Given the description of an element on the screen output the (x, y) to click on. 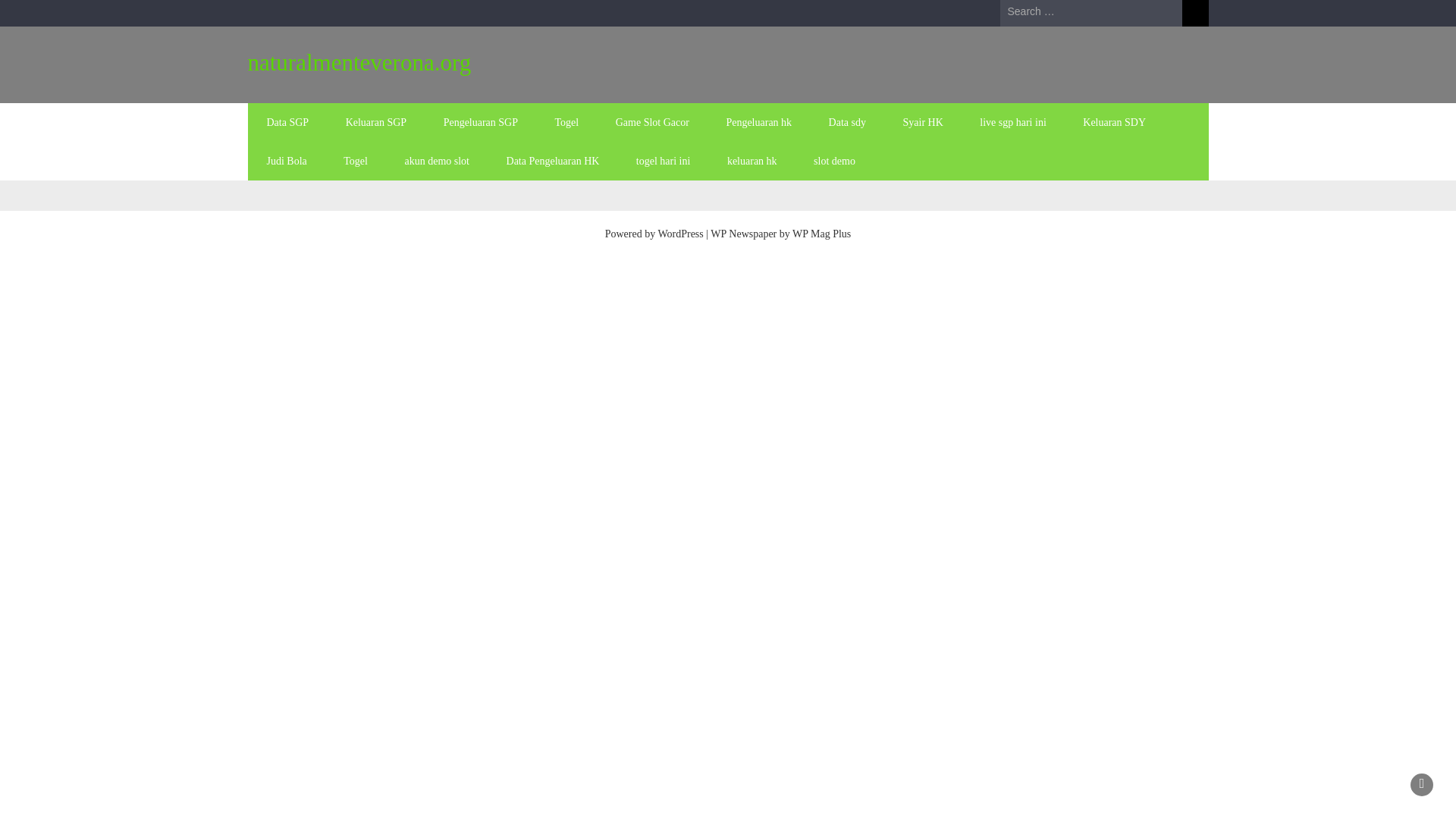
naturalmenteverona.org (358, 62)
Togel (355, 160)
Keluaran SDY (1113, 122)
Syair HK (922, 122)
Game Slot Gacor (651, 122)
akun demo slot (436, 160)
Data sdy (846, 122)
Togel (567, 122)
Search (1194, 13)
Pengeluaran hk (758, 122)
WordPress (680, 233)
Search for: (1089, 11)
live sgp hari ini (1012, 122)
Search (1194, 13)
togel hari ini (663, 160)
